Given the description of an element on the screen output the (x, y) to click on. 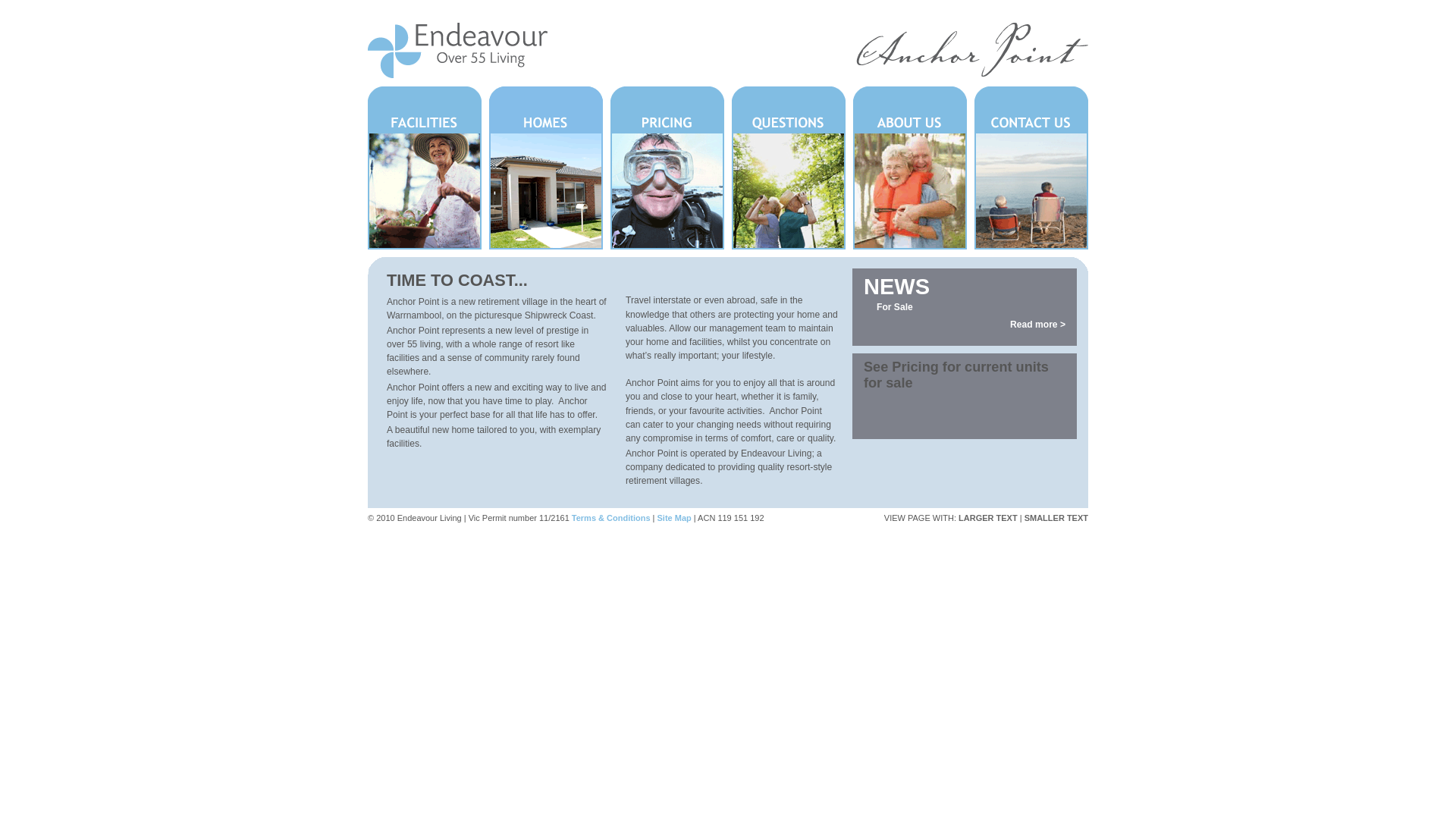
Questions Element type: text (788, 167)
Endeavour Element type: hover (457, 73)
About Us Element type: text (909, 167)
Read more > Element type: text (1037, 324)
Site Map Element type: text (673, 517)
Facilities Element type: text (424, 167)
Pricing Element type: text (667, 167)
SMALLER TEXT Element type: text (1056, 517)
LARGER TEXT Element type: text (987, 517)
For Sale Element type: text (894, 306)
Homes Element type: text (545, 167)
Contact Us Element type: text (1031, 167)
Terms & Conditions Element type: text (610, 517)
